Given the description of an element on the screen output the (x, y) to click on. 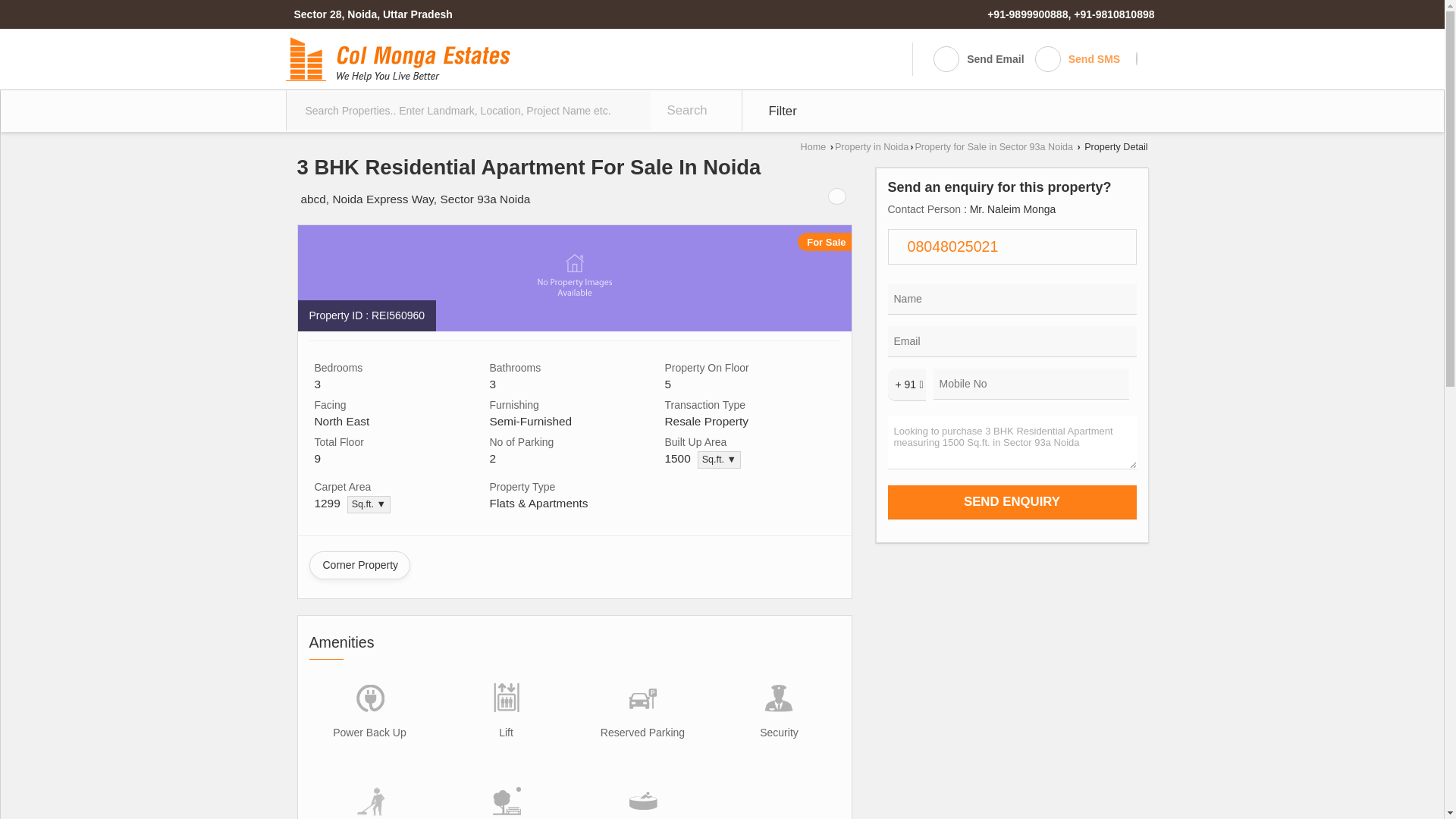
Col Monga Estates (397, 58)
Send Enquiry (1010, 502)
Send Email (978, 59)
Send SMS (1077, 59)
